Given the description of an element on the screen output the (x, y) to click on. 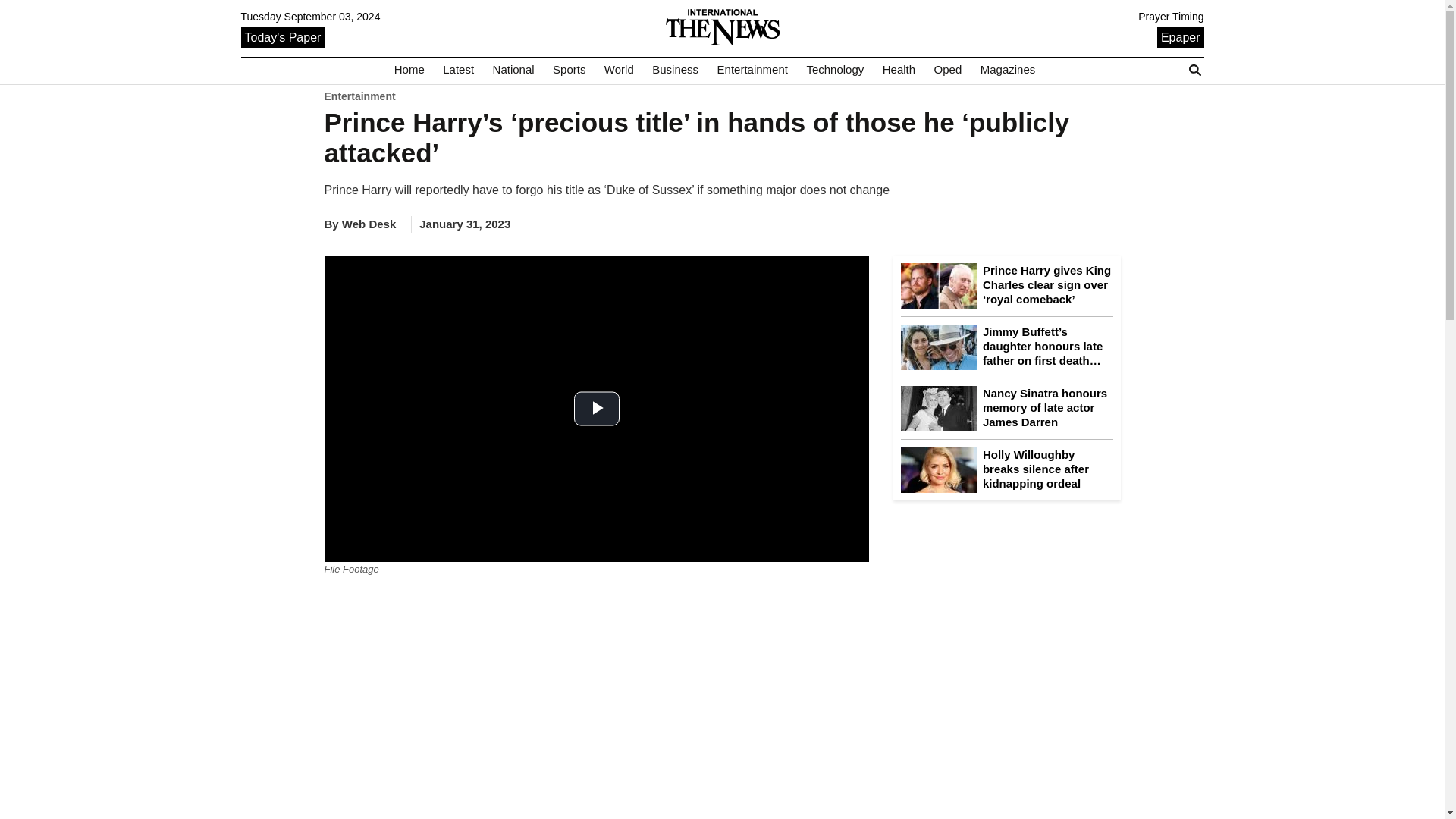
Business (675, 69)
Technology (833, 69)
Today's Paper (282, 37)
Home (409, 69)
National (512, 69)
World (619, 69)
Sports (568, 69)
Prayer Timing (1171, 16)
Latest (458, 69)
Epaper (1180, 37)
